Given the description of an element on the screen output the (x, y) to click on. 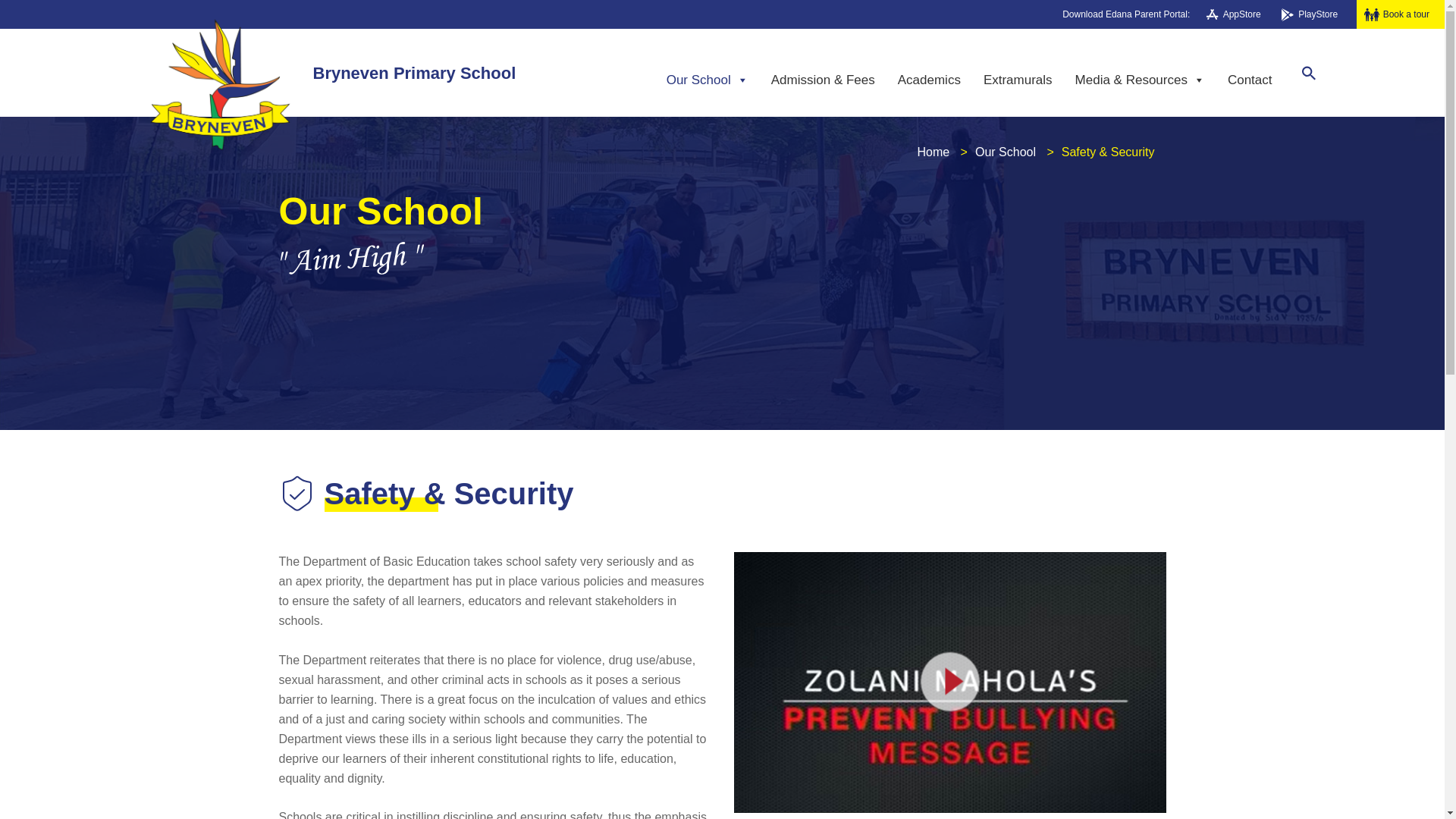
Extramurals (1018, 79)
Our School (707, 79)
PlayStore (1315, 14)
AppStore (1240, 14)
Bryneven Primary School (414, 72)
Academics (929, 79)
